Given the description of an element on the screen output the (x, y) to click on. 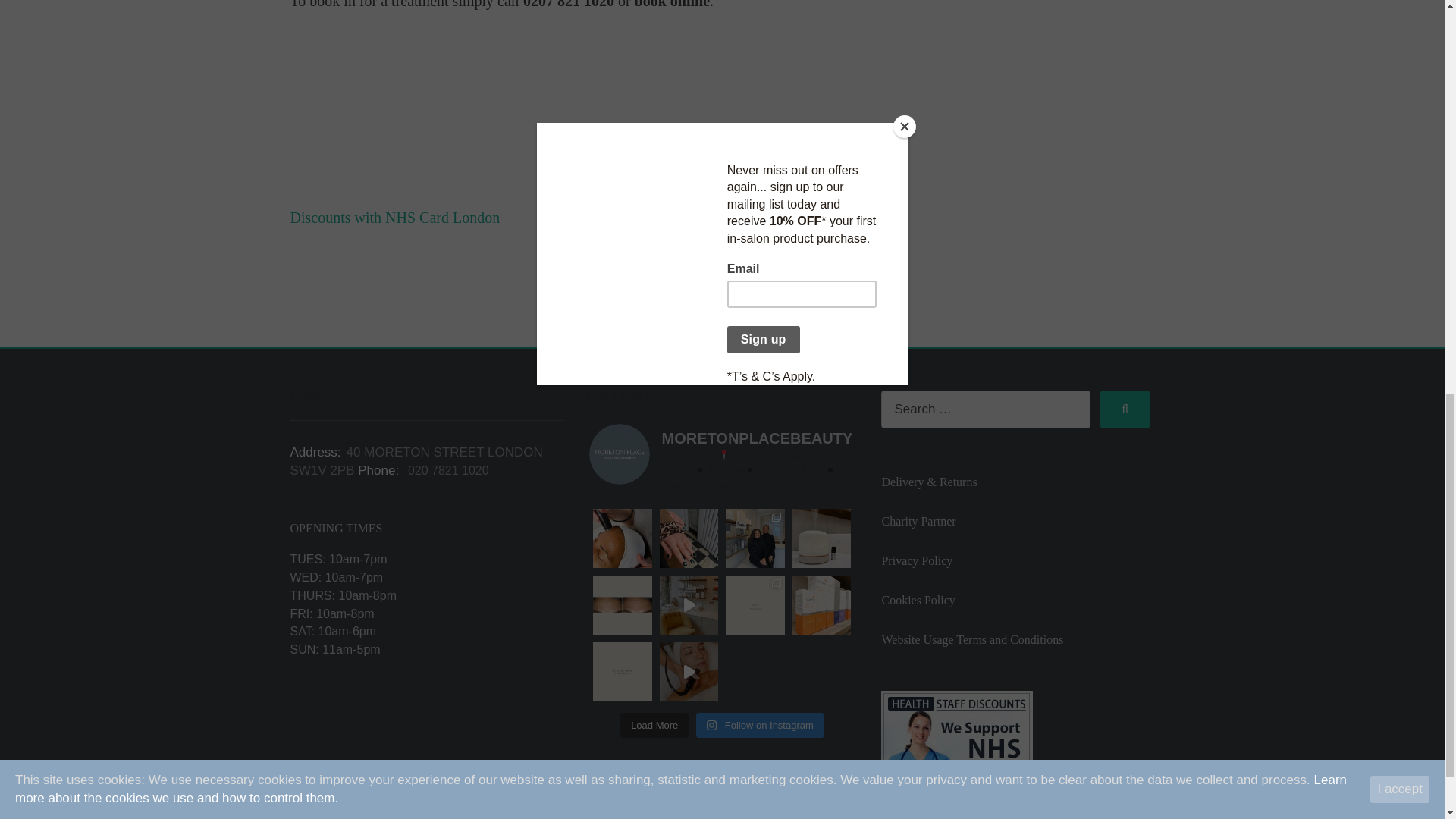
Search for: (985, 409)
